Given the description of an element on the screen output the (x, y) to click on. 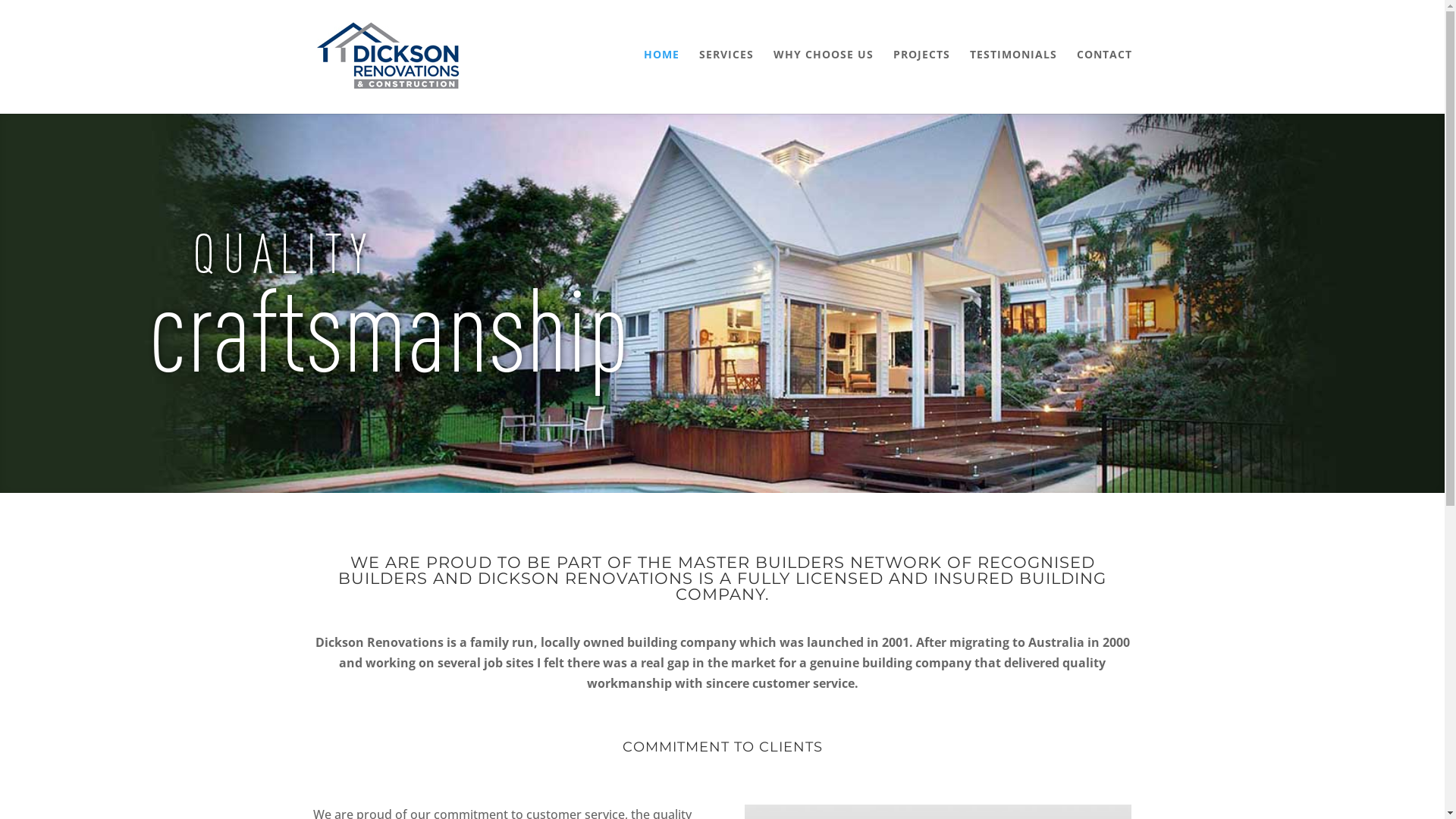
HOME Element type: text (660, 79)
TESTIMONIALS Element type: text (1012, 79)
SERVICES Element type: text (726, 79)
WHY CHOOSE US Element type: text (823, 79)
PROJECTS Element type: text (921, 79)
CONTACT Element type: text (1104, 79)
